Given the description of an element on the screen output the (x, y) to click on. 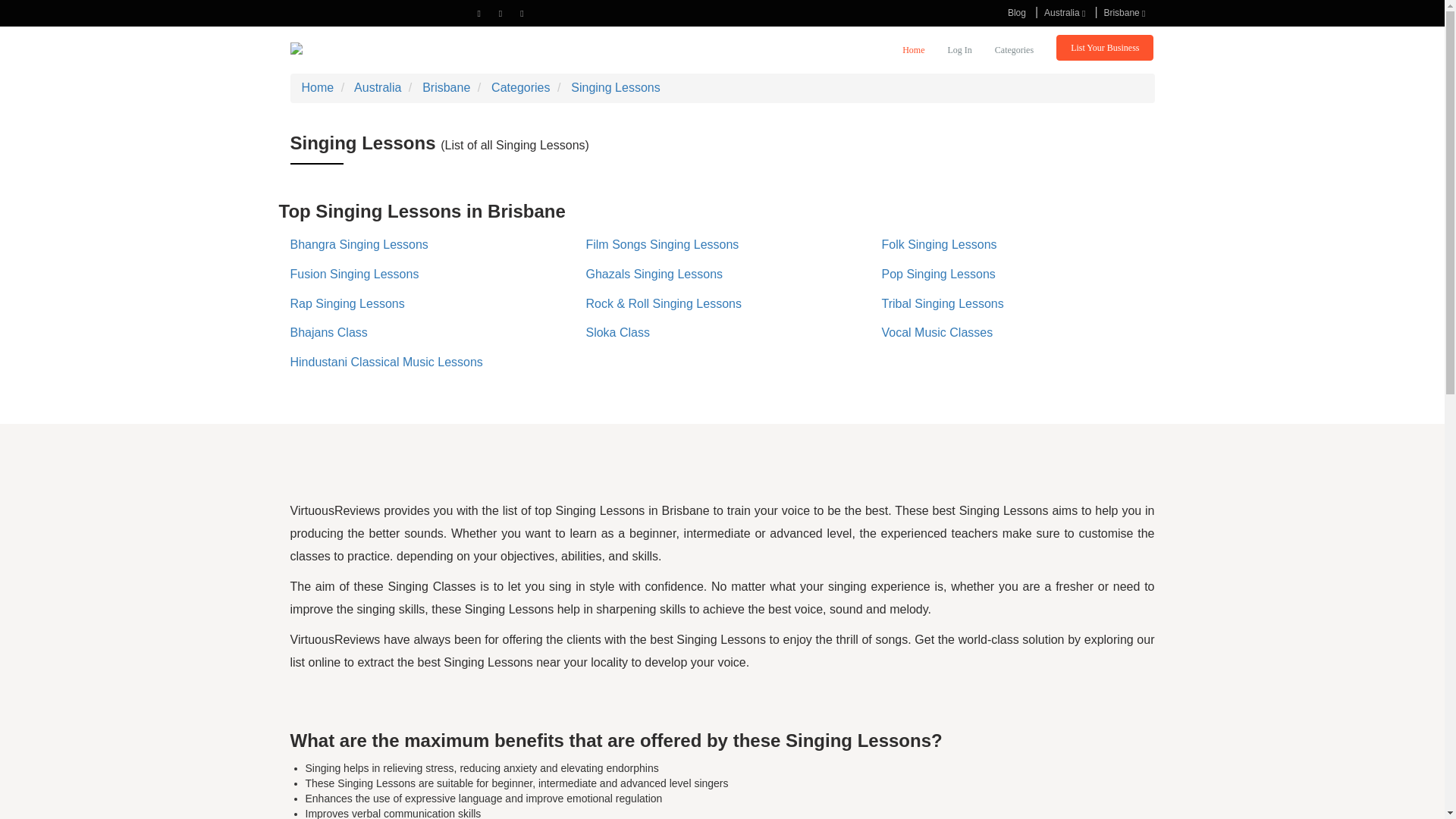
Virtuous Reviews (349, 49)
Australia (1064, 12)
Blog (1016, 12)
Categories (1013, 51)
Brisbane (1124, 12)
The Official Virtuous Reviews Blog (1016, 12)
select city (1124, 12)
